Given the description of an element on the screen output the (x, y) to click on. 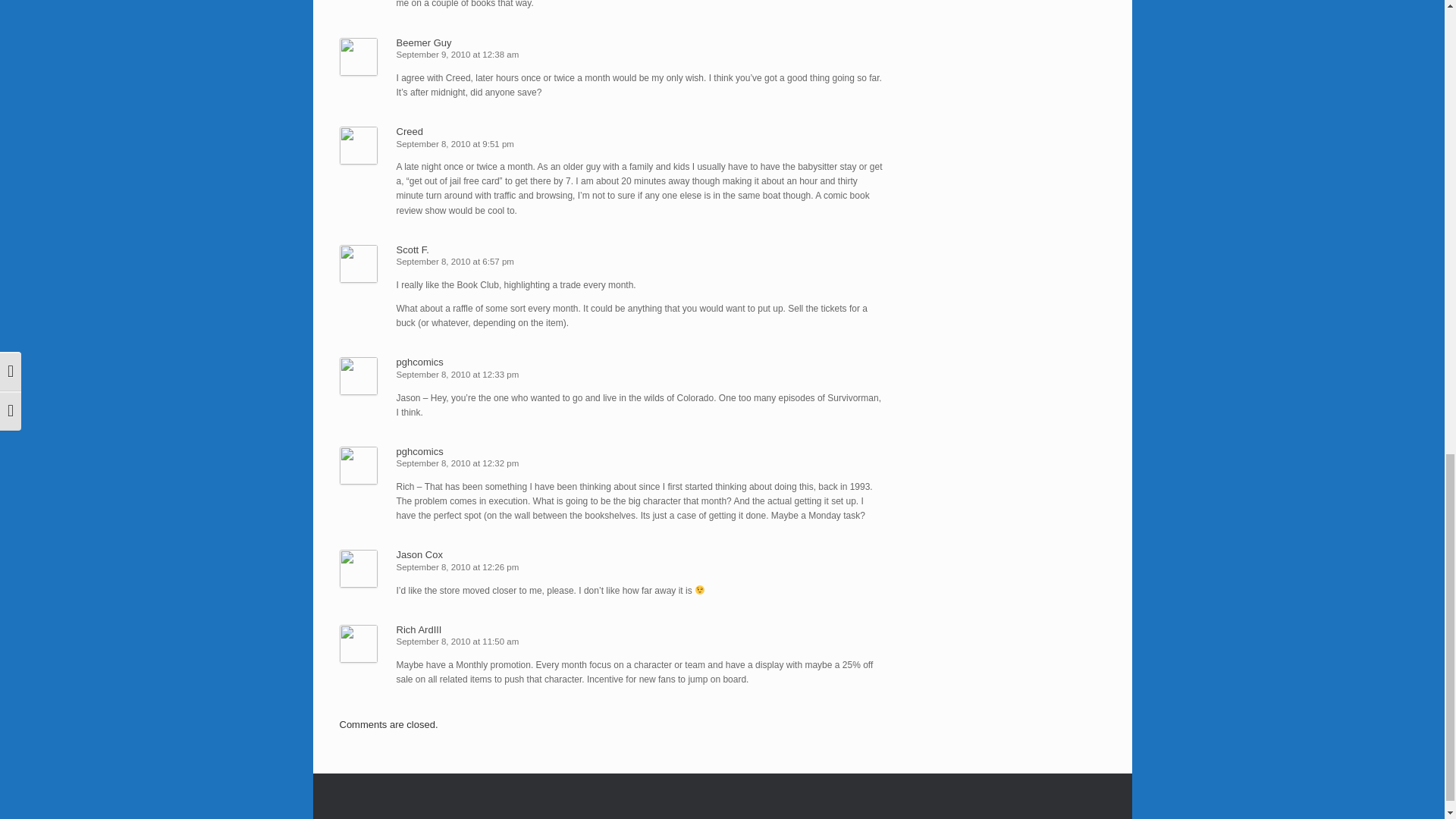
September 9, 2010 at 12:38 am (457, 53)
